Given the description of an element on the screen output the (x, y) to click on. 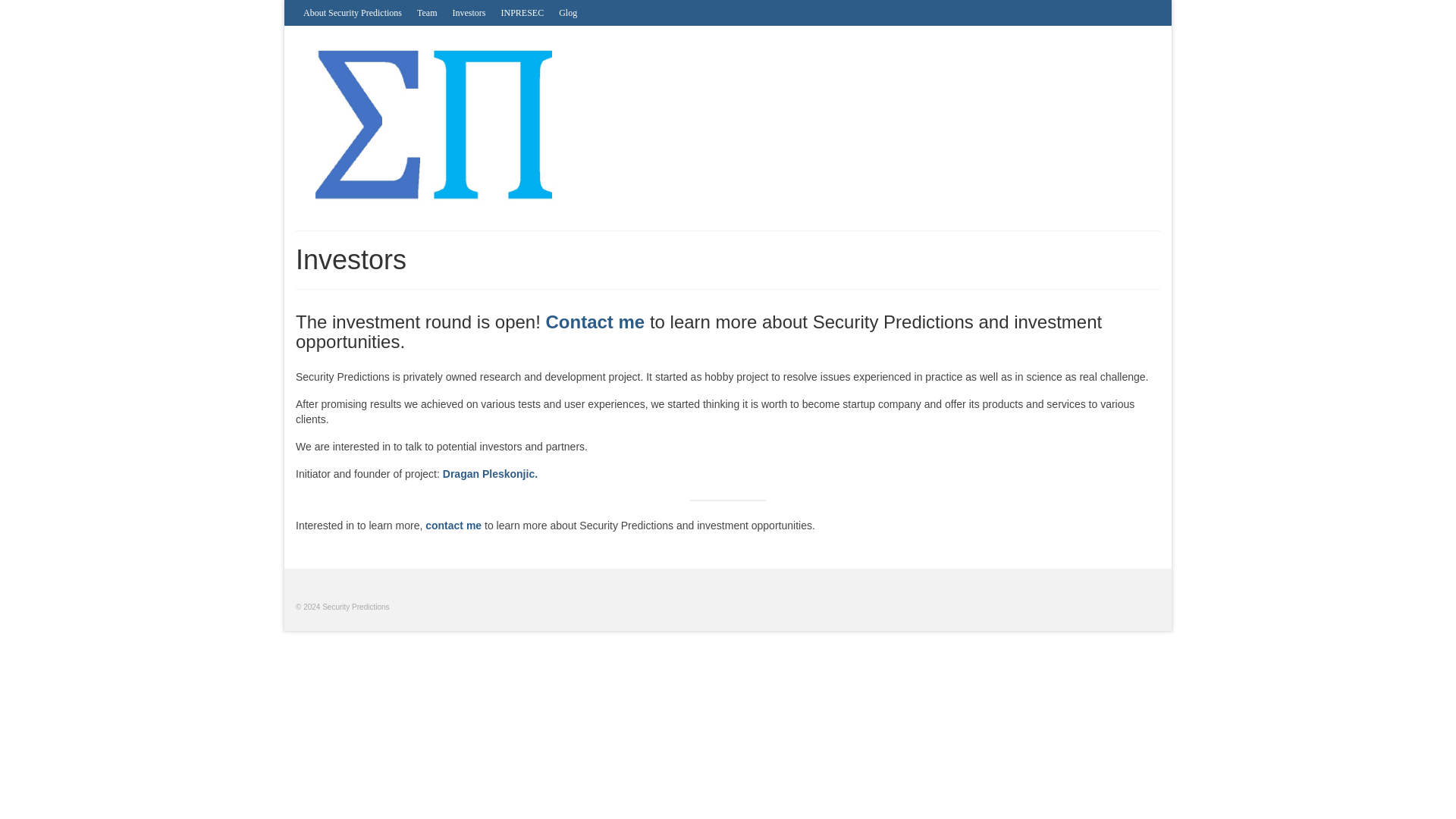
INPRESEC (522, 12)
Dragan Pleskonjic. (489, 473)
contact me (453, 525)
About Security Predictions (352, 12)
Glog (568, 12)
Investors (468, 12)
Team (426, 12)
Contact me (595, 322)
